Given the description of an element on the screen output the (x, y) to click on. 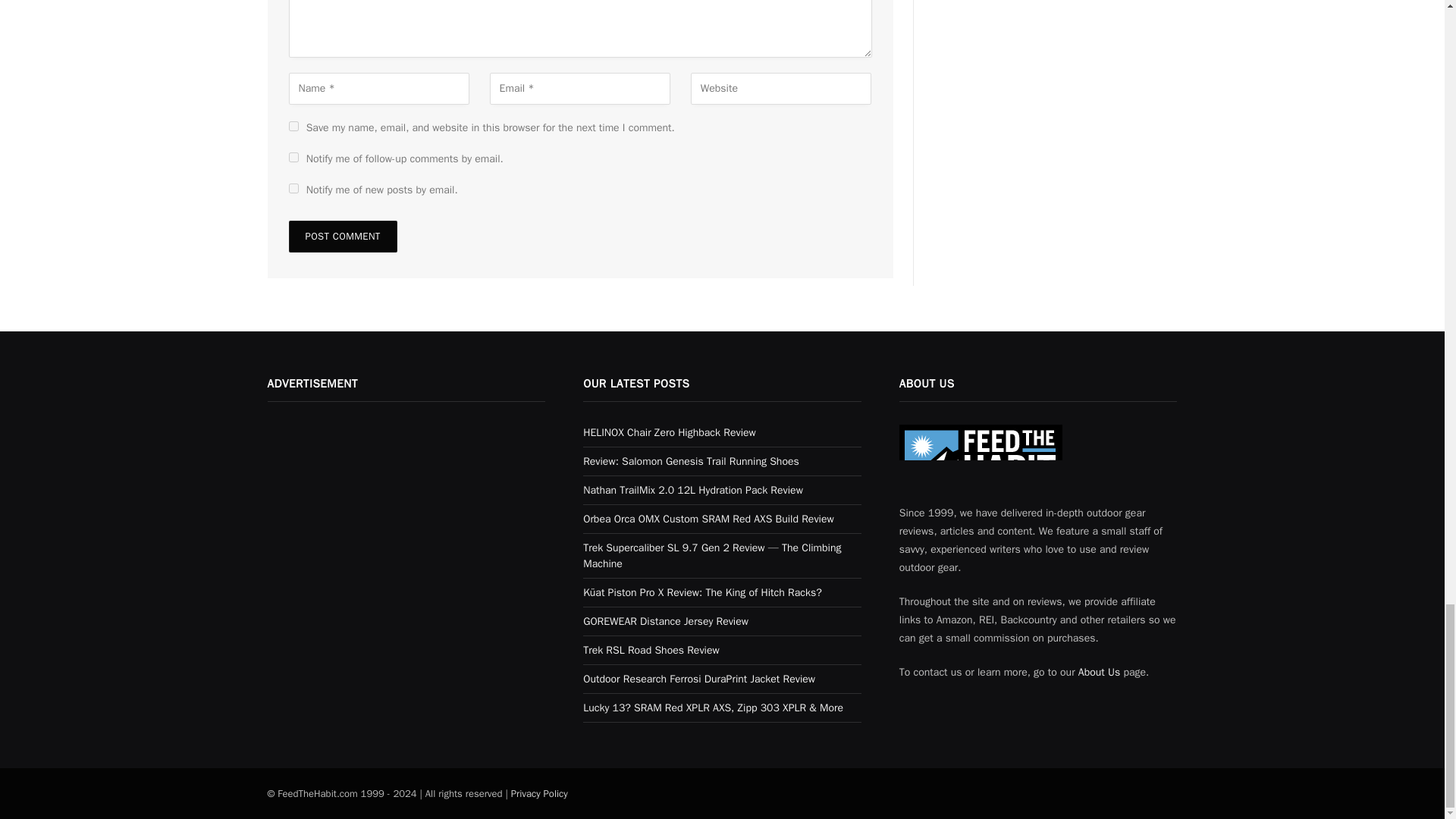
subscribe (293, 188)
yes (293, 126)
Post Comment (342, 236)
subscribe (293, 157)
